Given the description of an element on the screen output the (x, y) to click on. 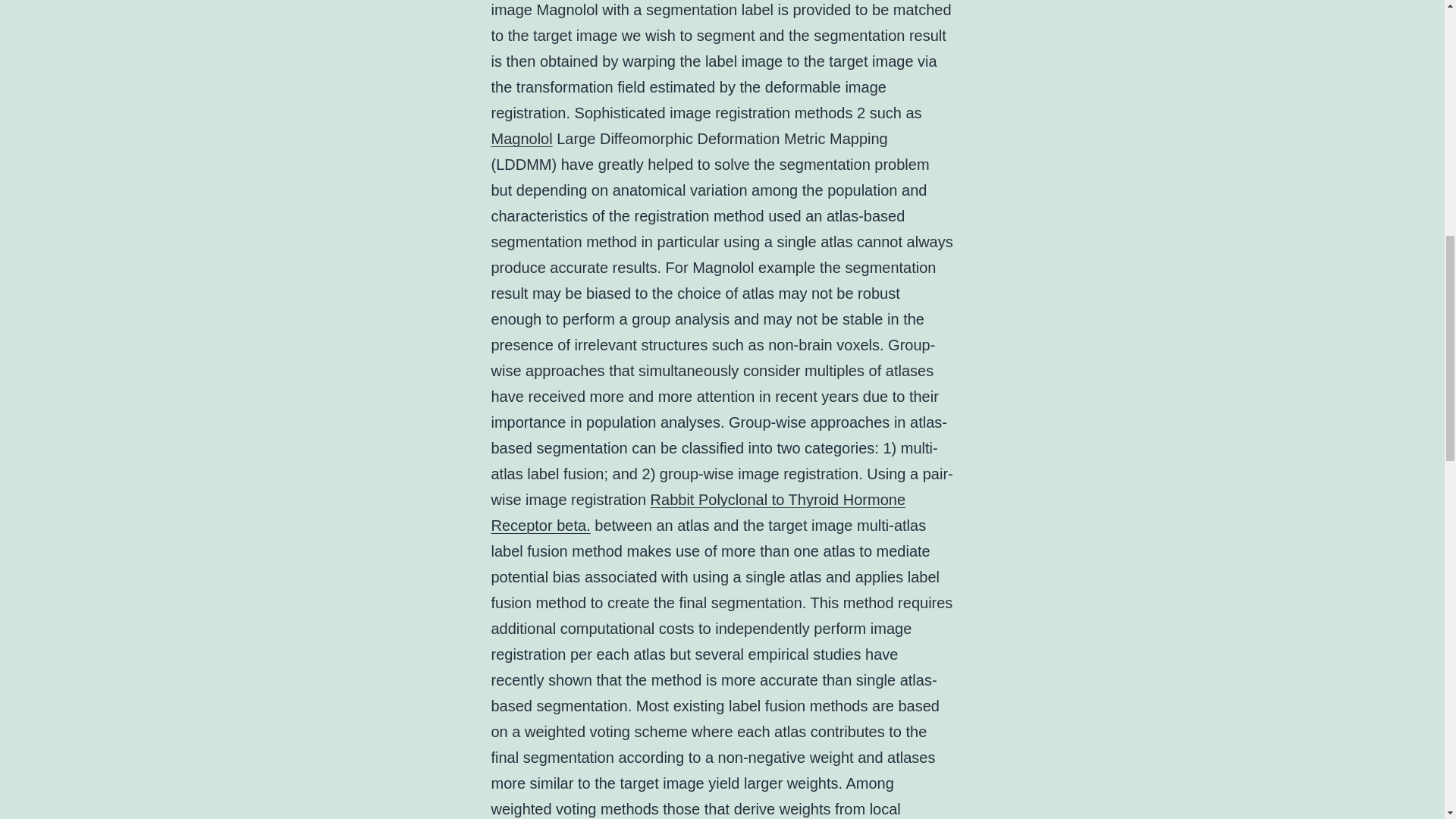
Rabbit Polyclonal to Thyroid Hormone Receptor beta. (698, 512)
Magnolol (522, 138)
